Given the description of an element on the screen output the (x, y) to click on. 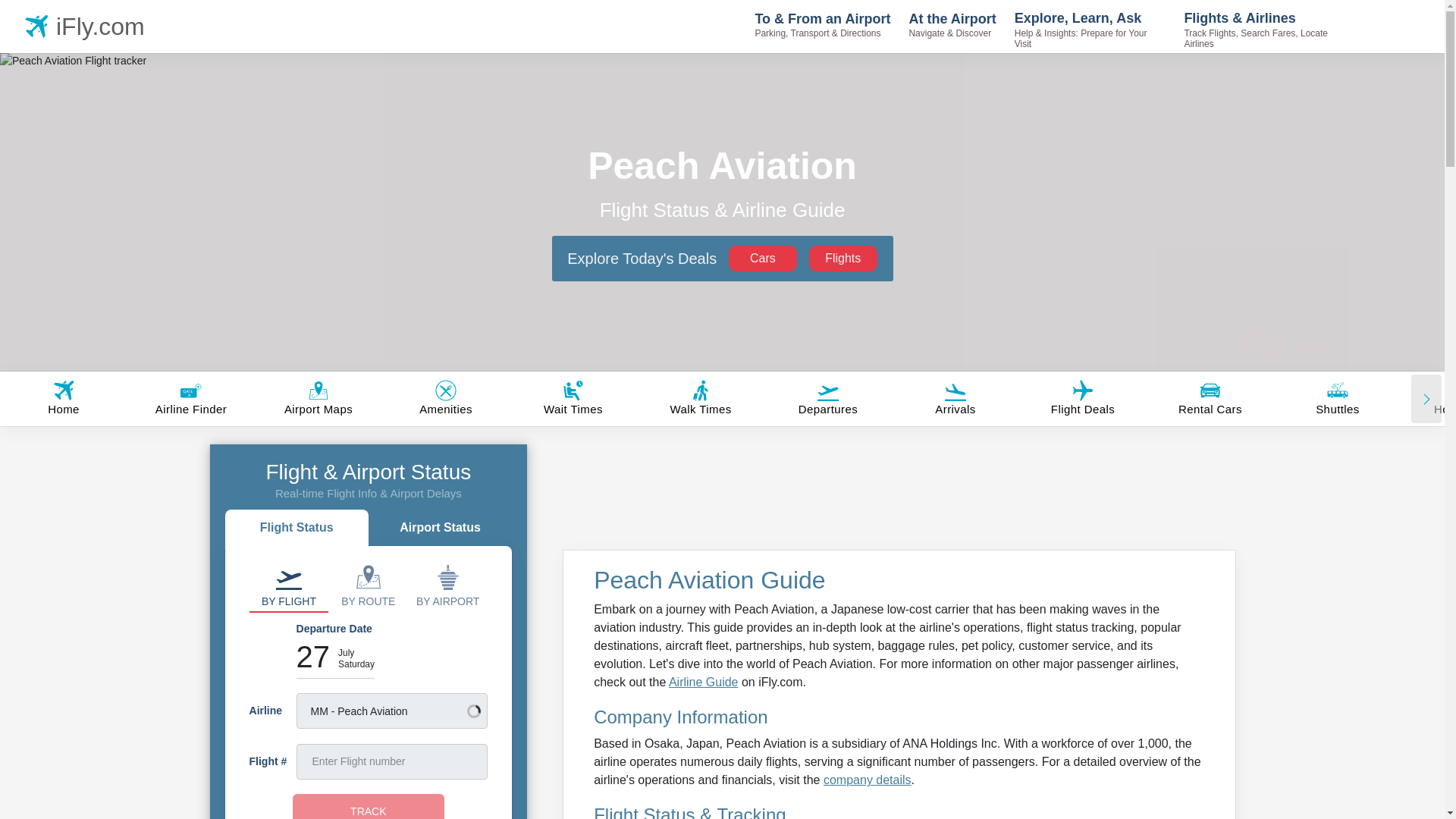
Airport Status (440, 529)
iFly.com (1281, 342)
Flight Status (296, 529)
By Route (368, 584)
By Flight (288, 584)
Cars (762, 258)
iFly.com (88, 26)
Flights (843, 258)
By Airport (447, 584)
